Given the description of an element on the screen output the (x, y) to click on. 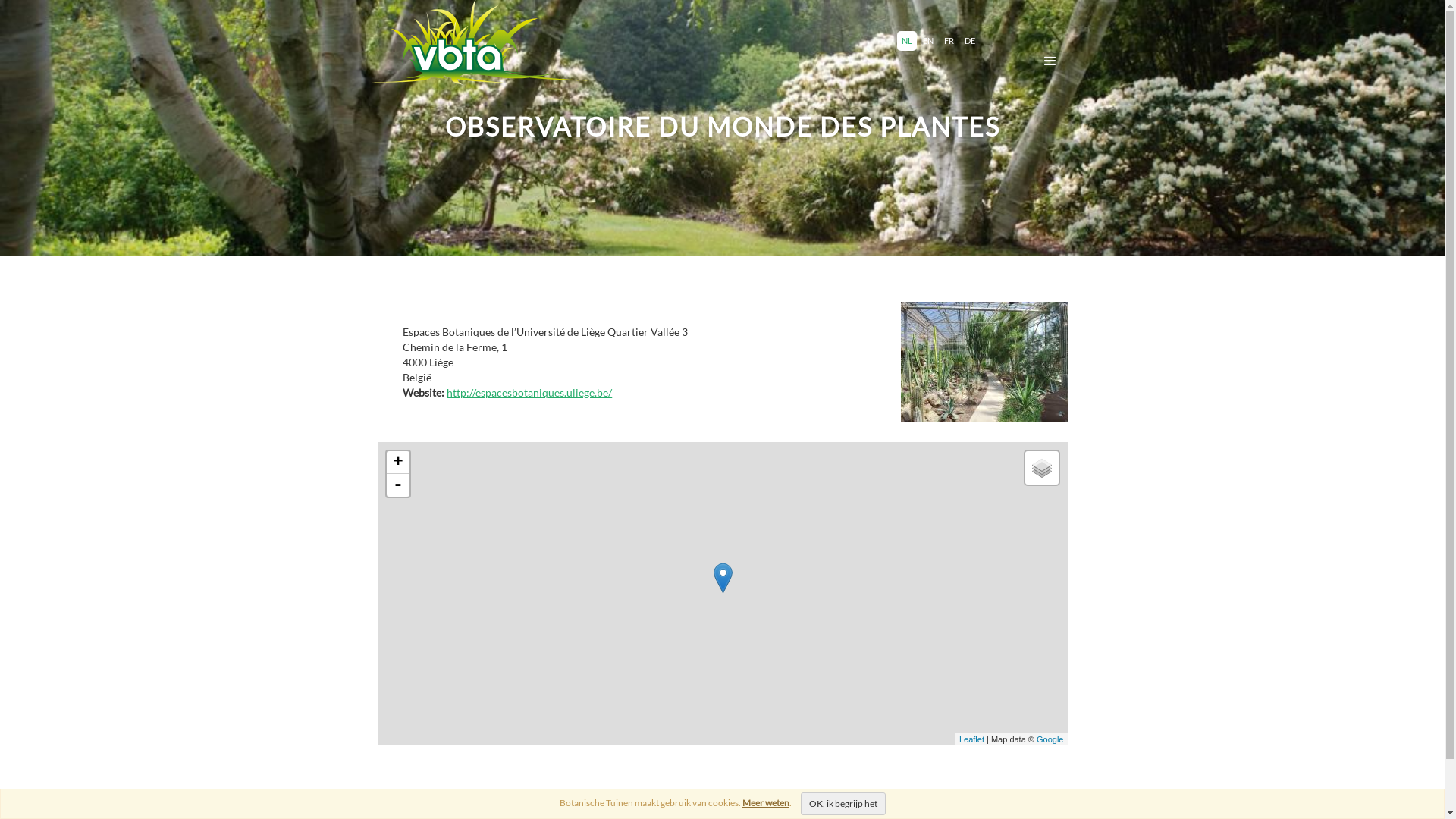
Overslaan en naar de inhoud gaan Element type: text (0, 0)
NL Element type: text (906, 40)
Toggle navigation Element type: text (1049, 61)
DE Element type: text (969, 40)
OK, ik begrijp het Element type: text (842, 803)
Home Element type: hover (479, 49)
Google Element type: text (1049, 738)
FR Element type: text (947, 40)
Layers Element type: hover (1041, 467)
http://espacesbotaniques.uliege.be/ Element type: text (528, 391)
EN Element type: text (927, 40)
- Element type: text (397, 484)
Leaflet Element type: text (971, 738)
Meer weten Element type: text (764, 802)
+ Element type: text (397, 462)
